Given the description of an element on the screen output the (x, y) to click on. 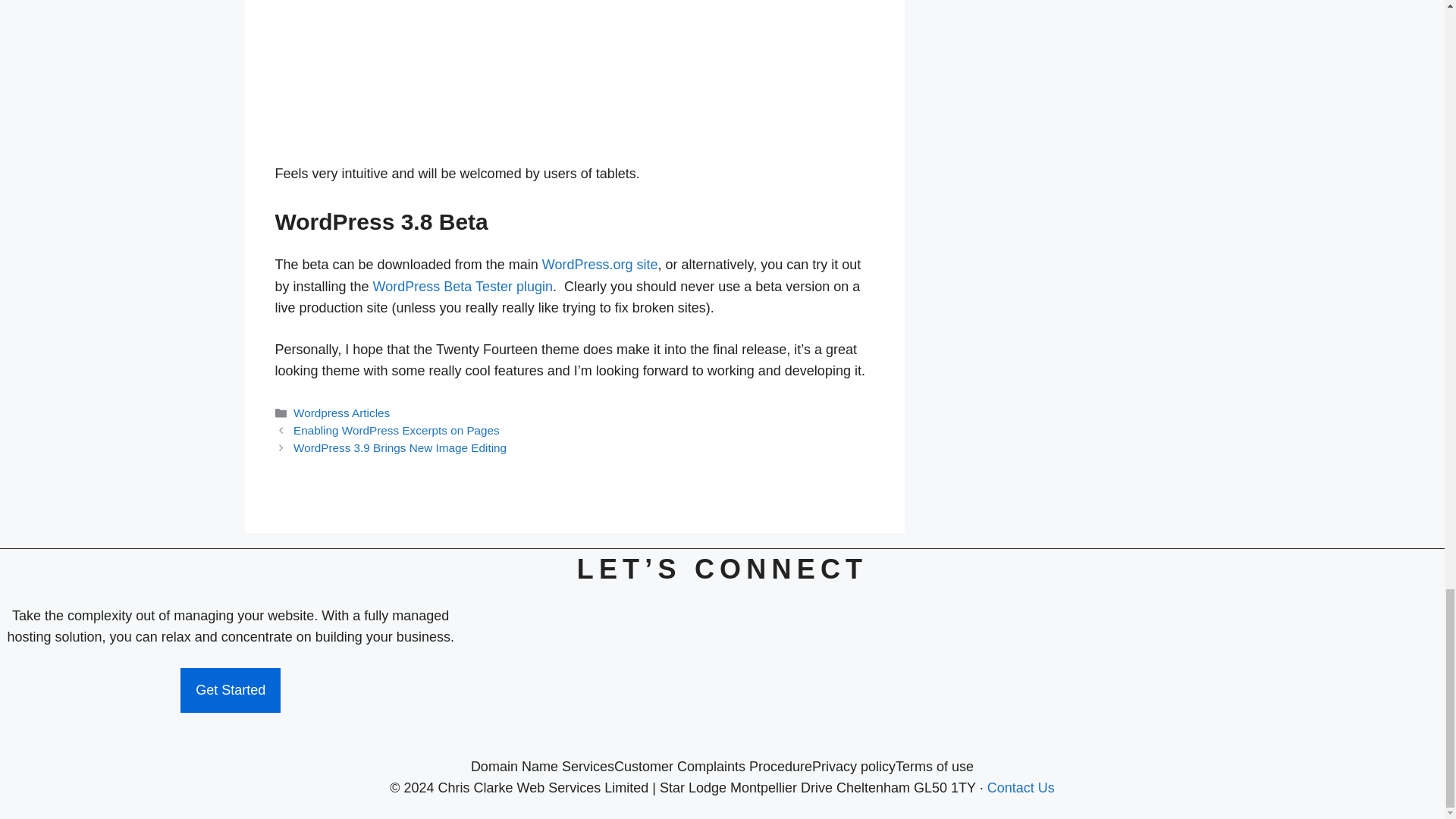
WordPress.org site (599, 264)
WordPress Beta Tester plugin (462, 286)
Wordpress Articles (342, 412)
WordPress 3.8 - What's New 3 (388, 72)
WordPress 3.8 Download Page (599, 264)
Enabling WordPress Excerpts on Pages (396, 430)
WordPress 3.9 Brings New Image Editing (400, 447)
WordPress Beta Tester (462, 286)
nominet (1214, 668)
